Given the description of an element on the screen output the (x, y) to click on. 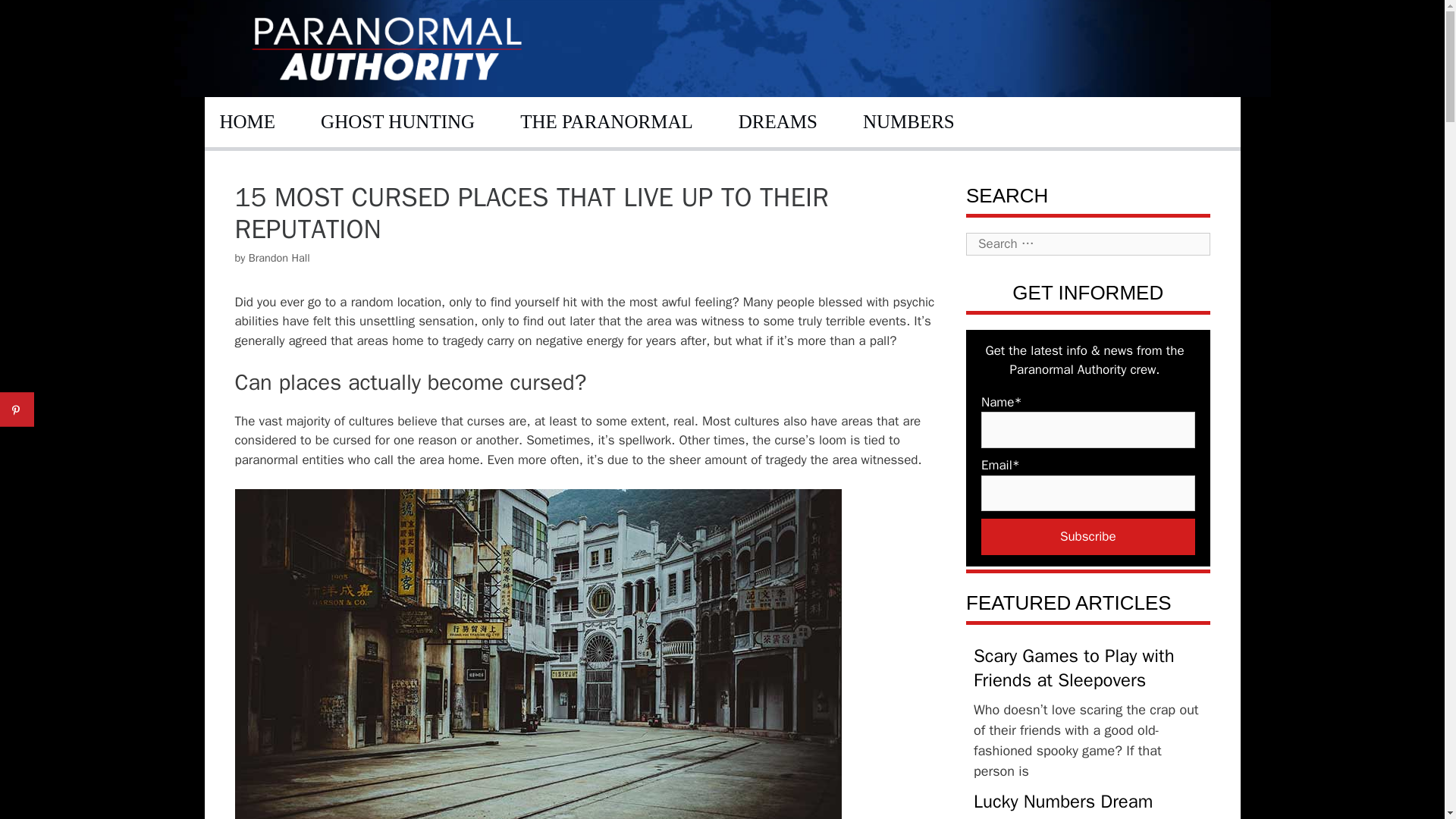
Save to Pinterest (16, 409)
Subscribe (1088, 536)
GHOST HUNTING (397, 121)
View all posts by Brandon Hall (279, 257)
Search (35, 18)
Scary Games to Play with Friends at Sleepovers (1074, 667)
NUMBERS (908, 121)
DREAMS (777, 121)
Paranormal Authority (387, 47)
Search for: (1087, 243)
